Given the description of an element on the screen output the (x, y) to click on. 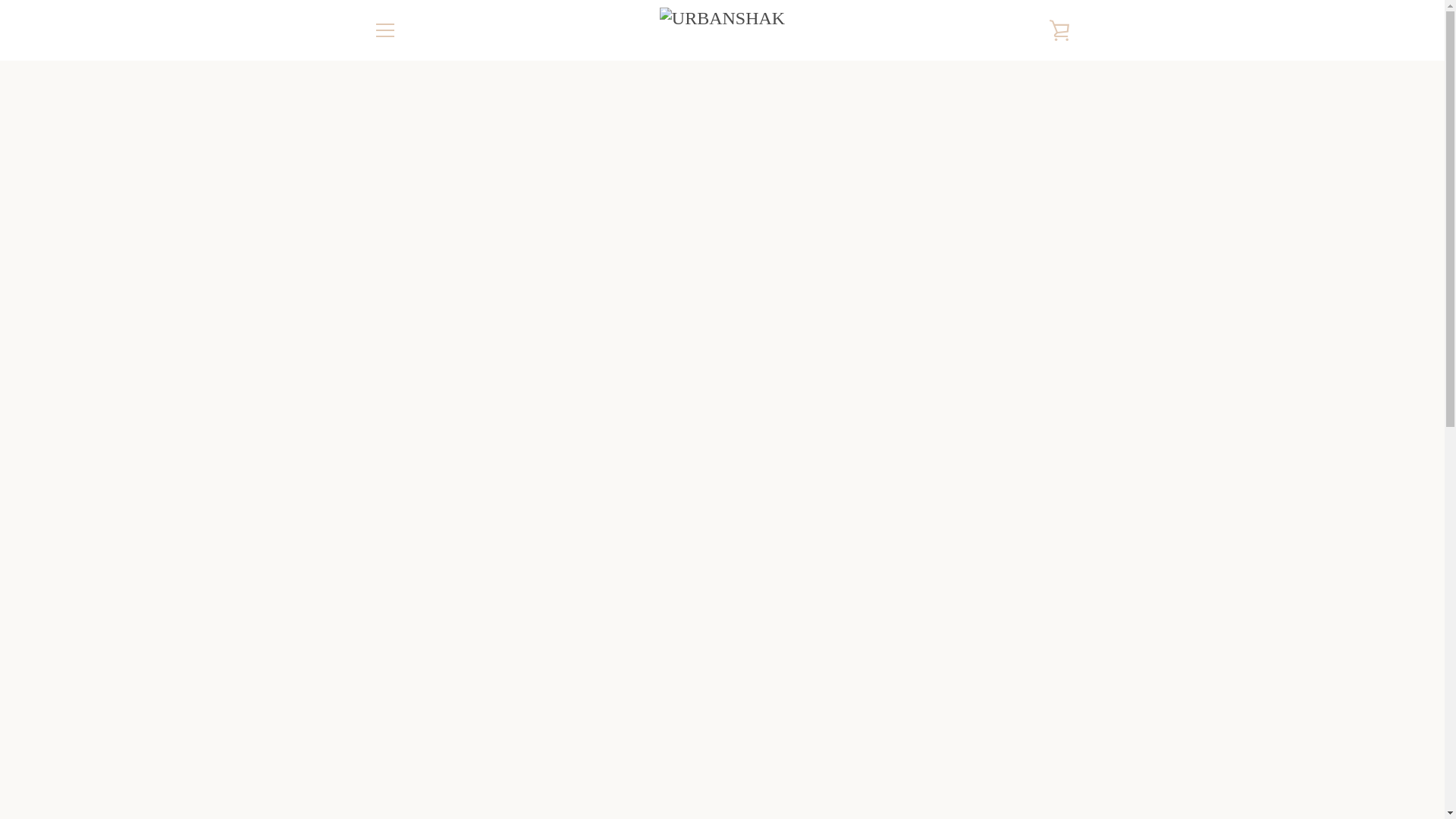
VIEW CART (1059, 30)
MENU (384, 30)
